Given the description of an element on the screen output the (x, y) to click on. 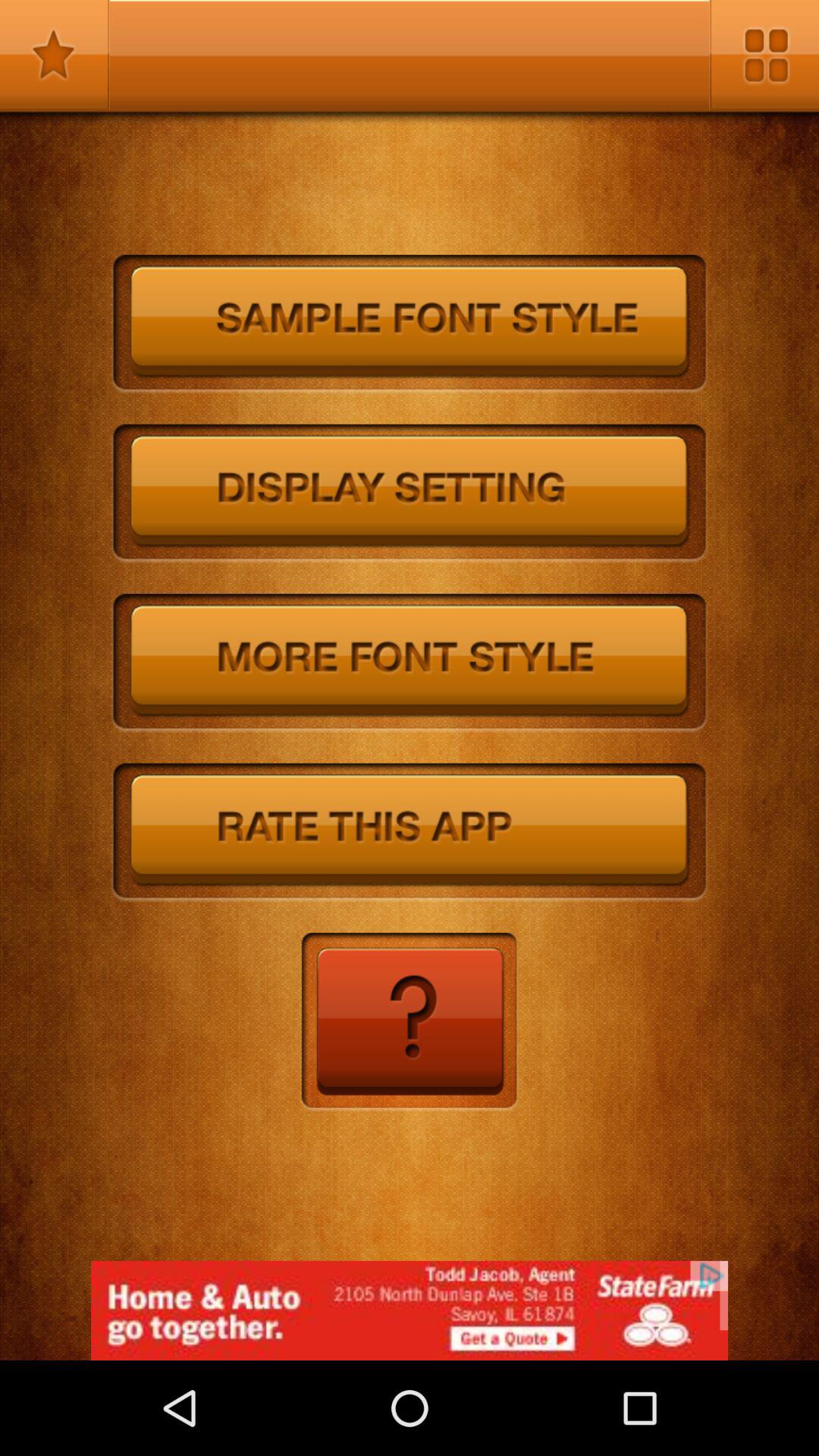
for advertisement (409, 1310)
